Given the description of an element on the screen output the (x, y) to click on. 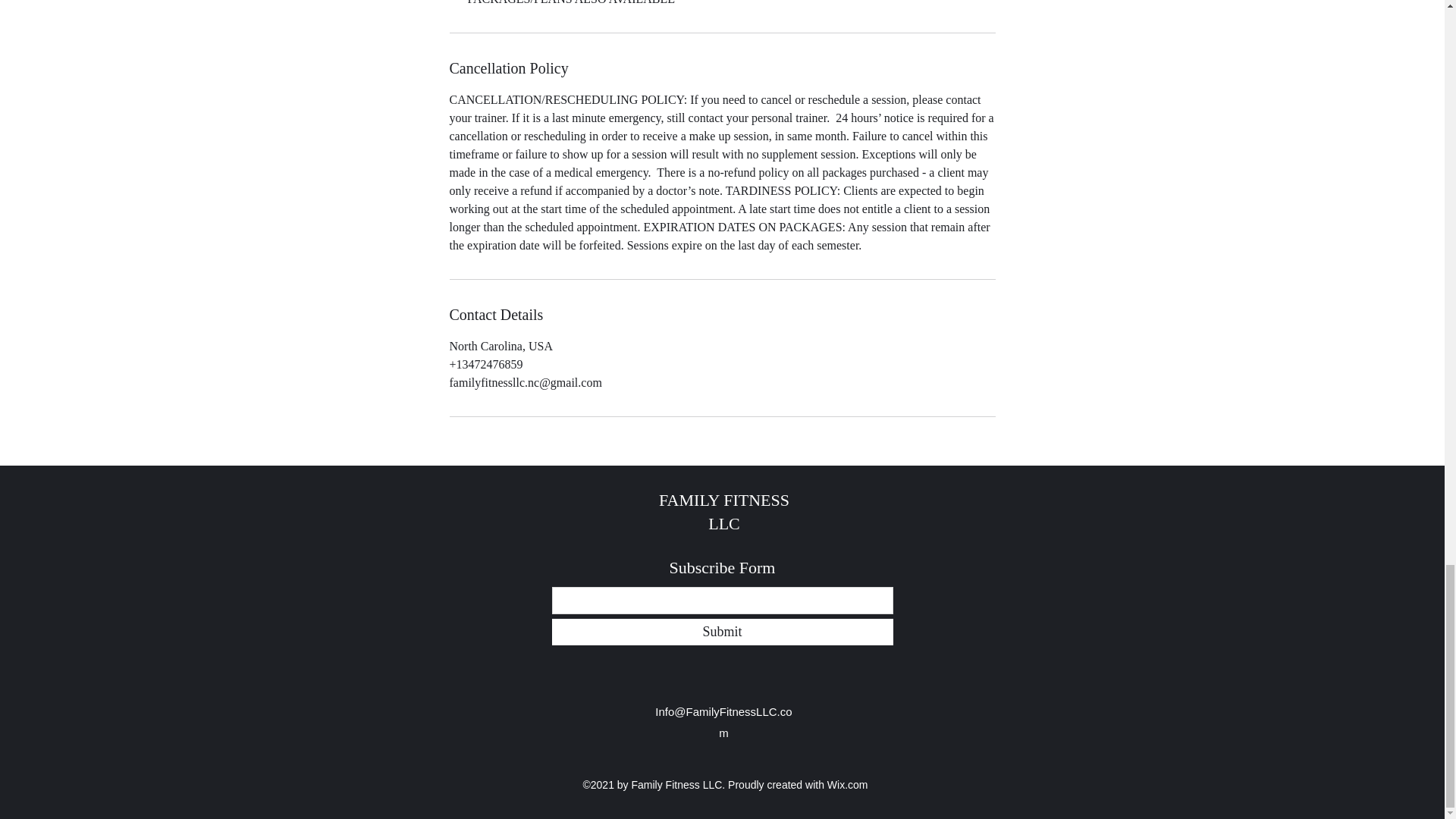
Submit (722, 632)
FAMILY FITNESS LLC (724, 511)
